Given the description of an element on the screen output the (x, y) to click on. 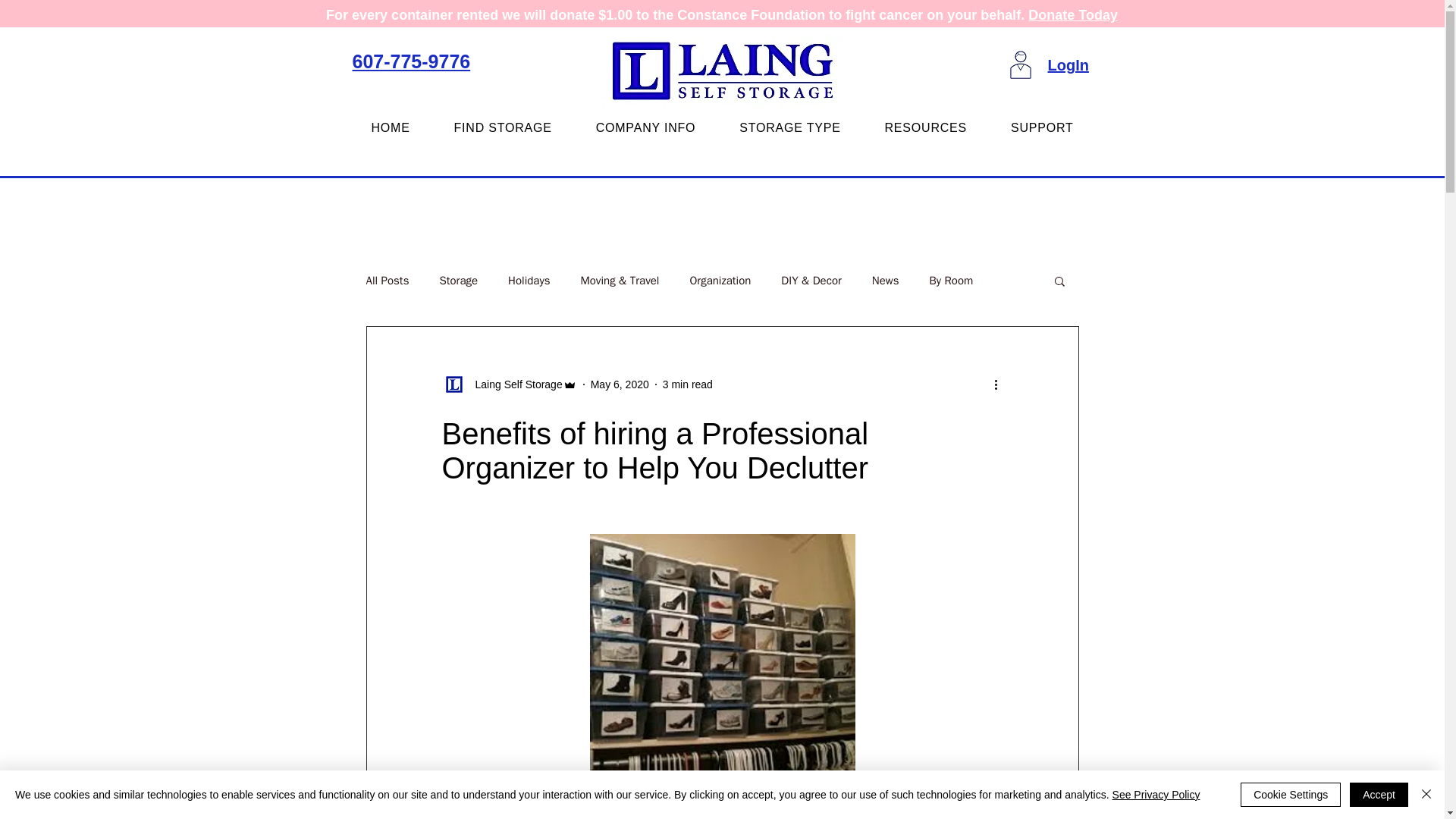
HOME (390, 127)
By Room (950, 279)
May 6, 2020 (620, 383)
All Posts (387, 279)
Donate Today (1072, 14)
LogIn (1068, 64)
3 min read (687, 383)
News (885, 279)
Laing Self Storage (513, 383)
FIND STORAGE (502, 127)
